Given the description of an element on the screen output the (x, y) to click on. 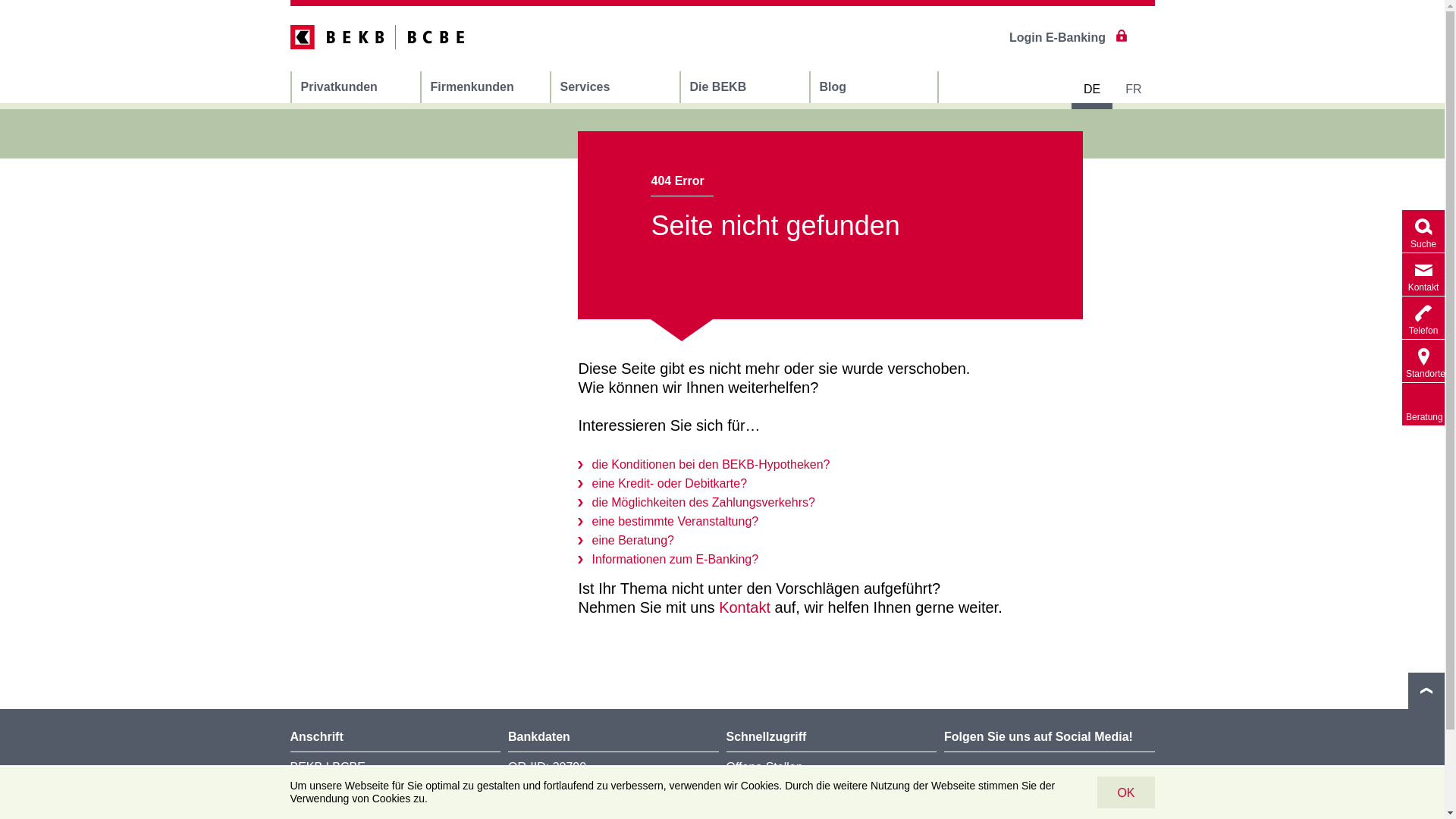
Services Element type: text (614, 87)
eine Kredit- oder Debitkarte? Element type: text (661, 482)
eine Beratung? Element type: text (625, 539)
Standorte Element type: text (1423, 360)
Telefon Element type: text (1423, 317)
Informationen zum E-Banking? Element type: text (667, 558)
Die BEKB Element type: text (744, 87)
Instagram Element type: text (1087, 780)
nach oben/unten scrollen Element type: text (1426, 690)
Privatkunden Element type: text (355, 87)
Login E-Banking Element type: text (1068, 37)
Firmenkunden Element type: text (485, 87)
Kununu Element type: text (1003, 780)
Suche Element type: text (1423, 231)
Kontakt Element type: text (1423, 274)
Kontakt Element type: text (744, 607)
LinkedIn Element type: text (962, 780)
eine bestimmte Veranstaltung? Element type: text (667, 520)
TikTok Element type: text (1128, 780)
DE Element type: text (1091, 89)
FR Element type: text (1133, 89)
Medien Element type: text (745, 791)
Facebook Element type: text (1045, 780)
OK Element type: text (1125, 792)
Blog Element type: text (872, 87)
die Konditionen bei den BEKB-Hypotheken? Element type: text (703, 464)
Offene Stellen Element type: text (764, 767)
Beratung Element type: text (1423, 403)
